Given the description of an element on the screen output the (x, y) to click on. 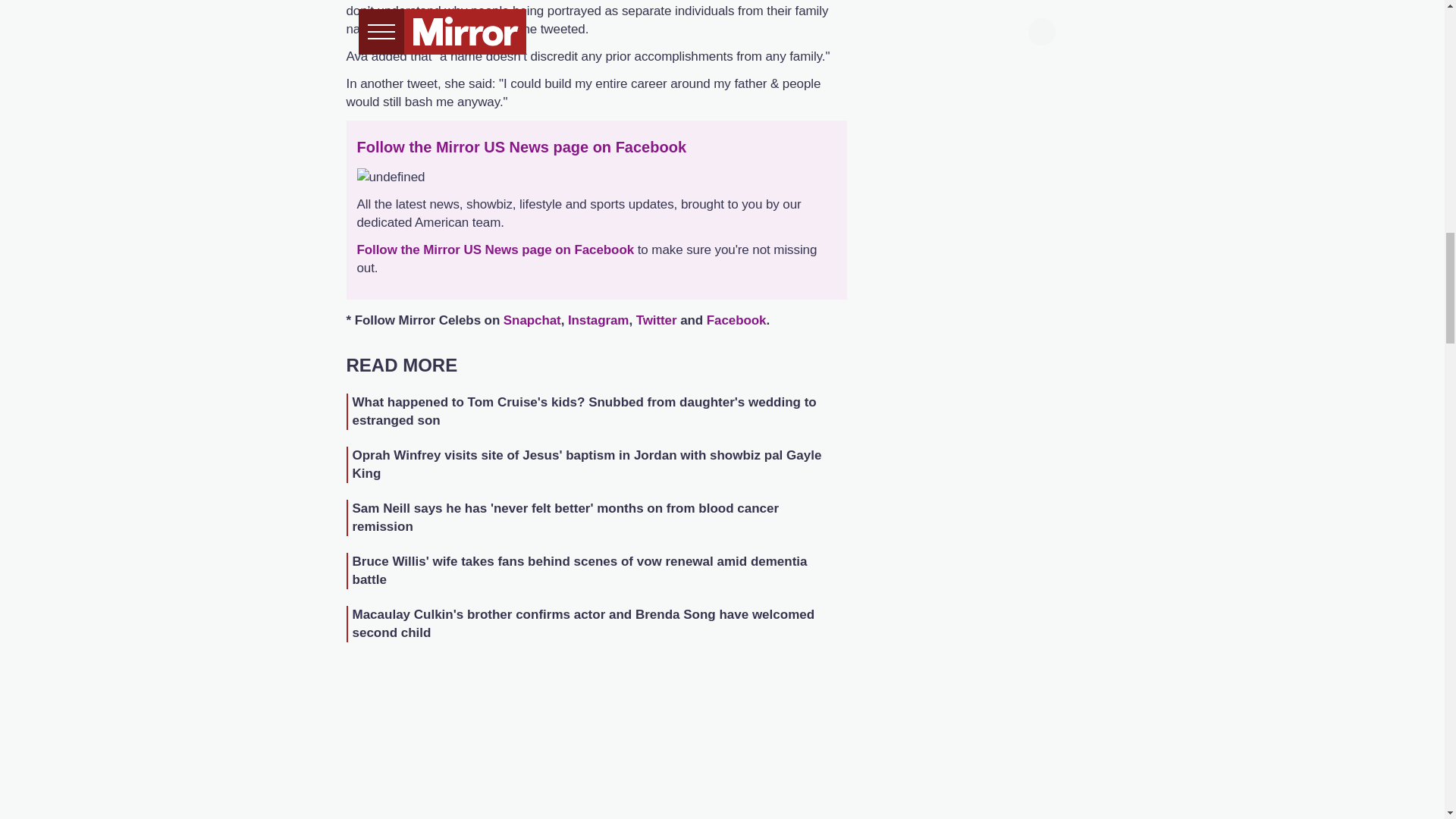
Instagram (597, 319)
Snapchat (531, 319)
Follow the Mirror US News page on Facebook (494, 249)
